Given the description of an element on the screen output the (x, y) to click on. 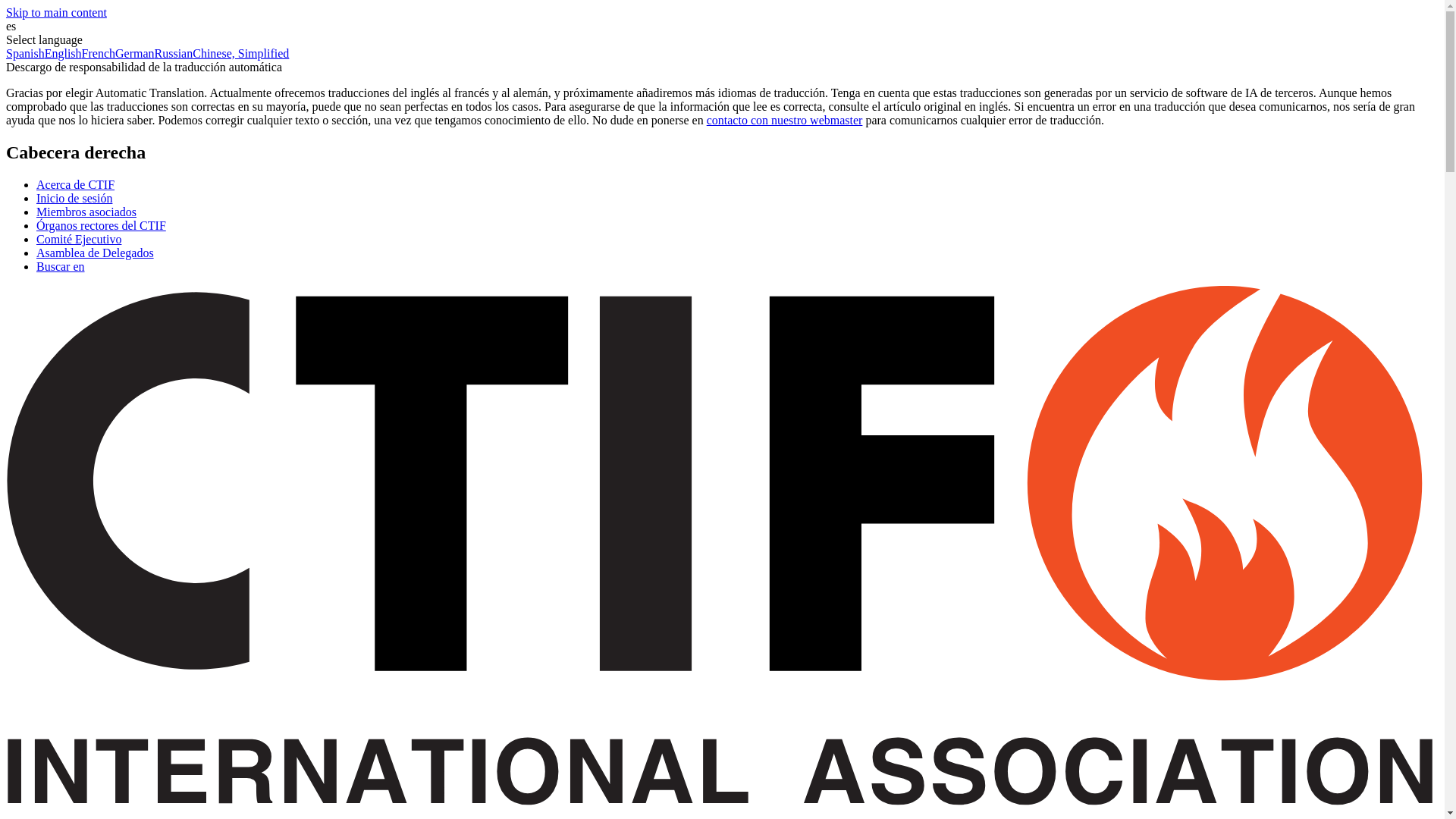
English (63, 52)
Chinese, Simplified (240, 52)
French (98, 52)
Asamblea de Delegados (95, 252)
contacto con nuestro webmaster (784, 119)
Russian (173, 52)
Skip to main content (55, 11)
Miembros asociados (86, 211)
Spanish (25, 52)
Buscar en (60, 266)
Acerca de CTIF (75, 184)
German (134, 52)
